Given the description of an element on the screen output the (x, y) to click on. 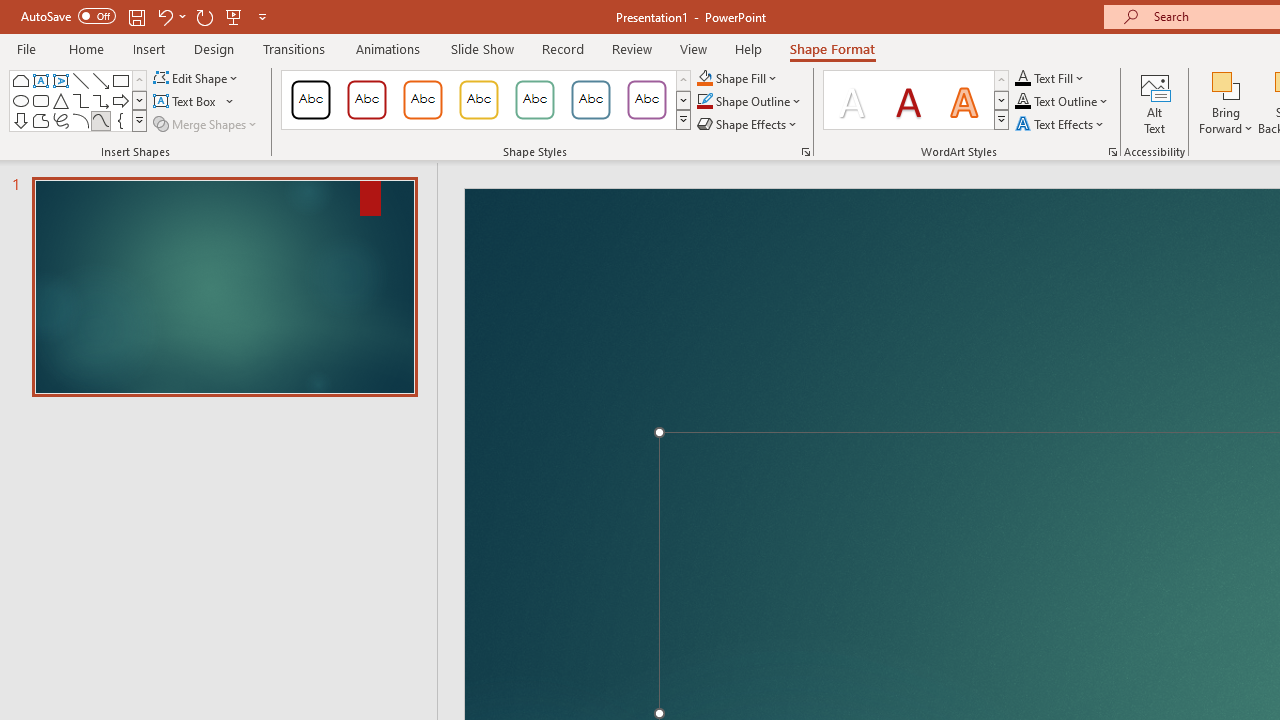
Left Brace (120, 120)
Shape Fill (737, 78)
Rectangle: Rounded Corners (40, 100)
Quick Styles (1001, 120)
Line (80, 80)
Colored Outline - Blue-Gray, Accent 5 (591, 100)
Quick Access Toolbar (145, 16)
Shape Fill Orange, Accent 2 (704, 78)
View (693, 48)
Format Text Effects... (1112, 151)
Text Fill (1050, 78)
Text Effects (1061, 124)
Row up (1001, 79)
Bring Forward (1225, 102)
